Given the description of an element on the screen output the (x, y) to click on. 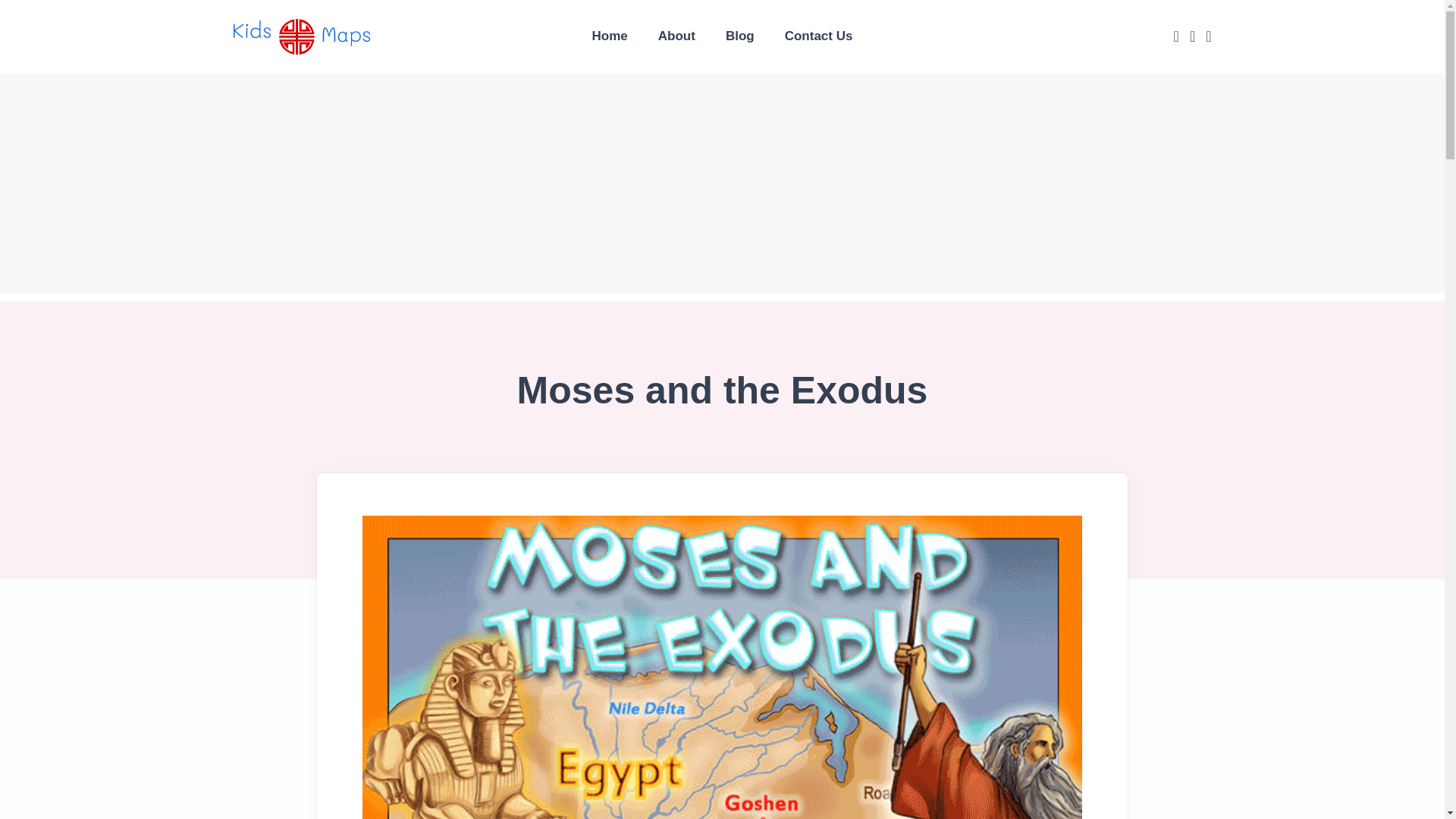
Home (609, 36)
About (676, 36)
Contact Us (818, 36)
